Given the description of an element on the screen output the (x, y) to click on. 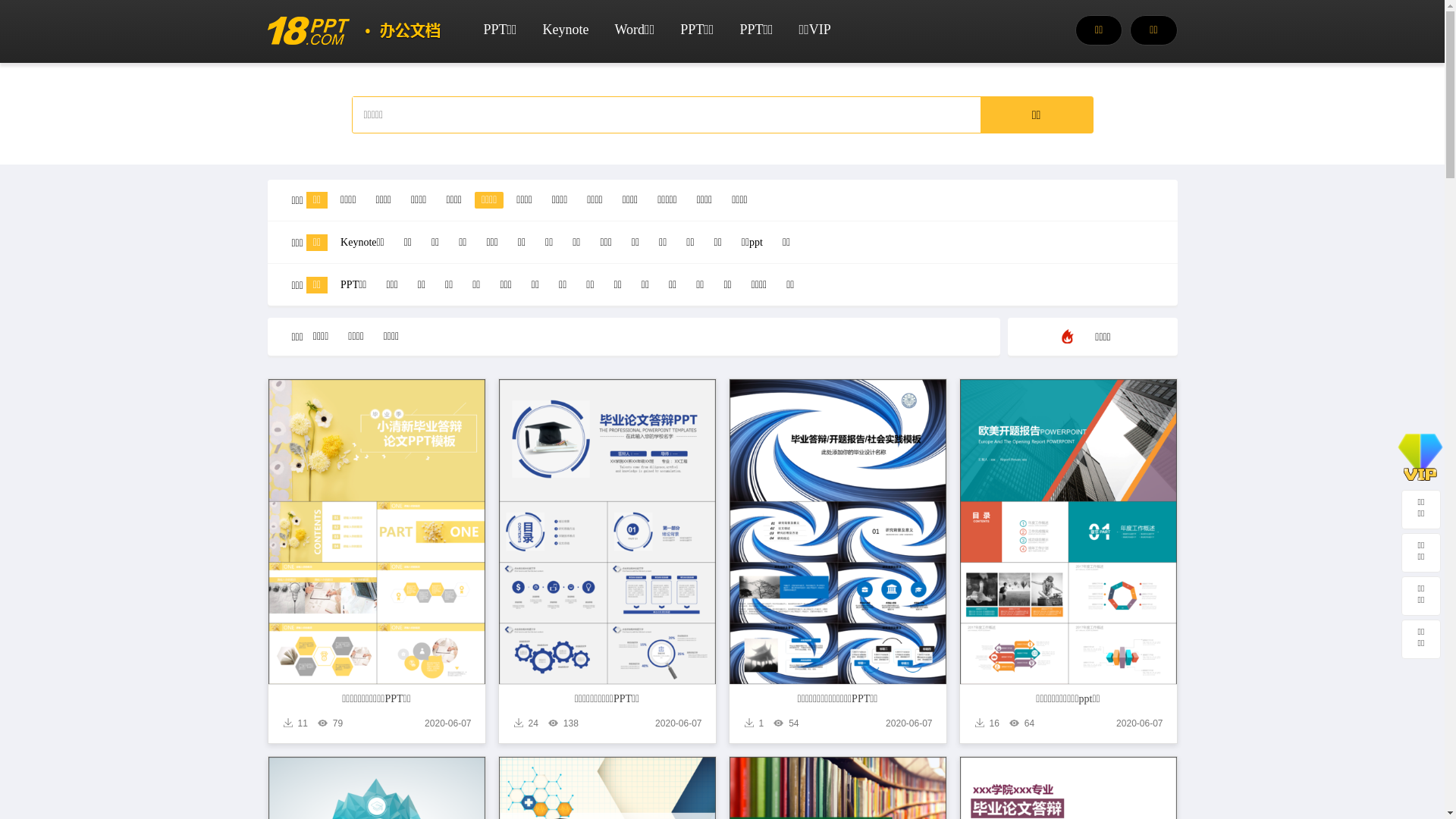
Keynote Element type: text (566, 29)
